Given the description of an element on the screen output the (x, y) to click on. 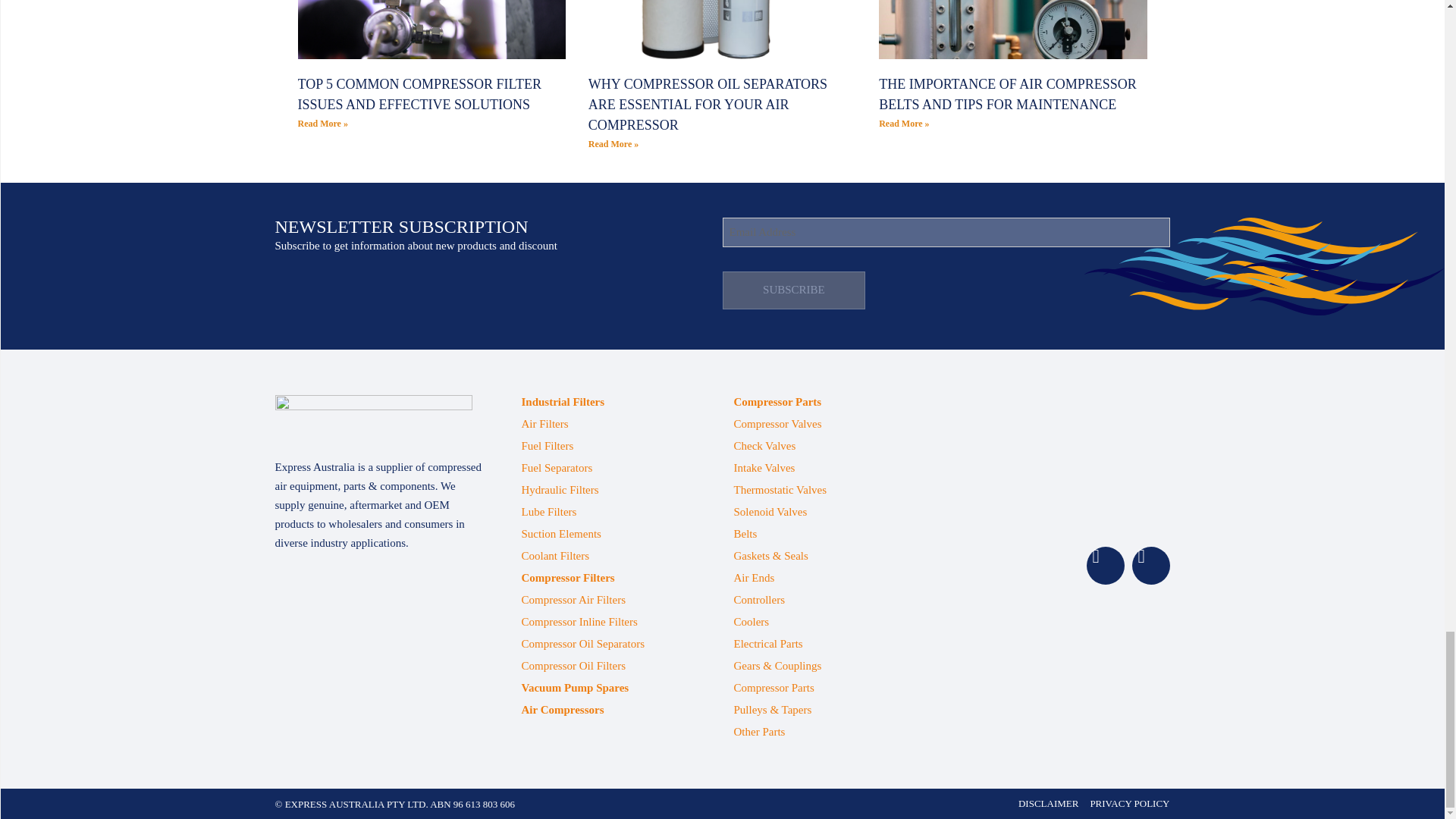
Subscribe (793, 290)
